Given the description of an element on the screen output the (x, y) to click on. 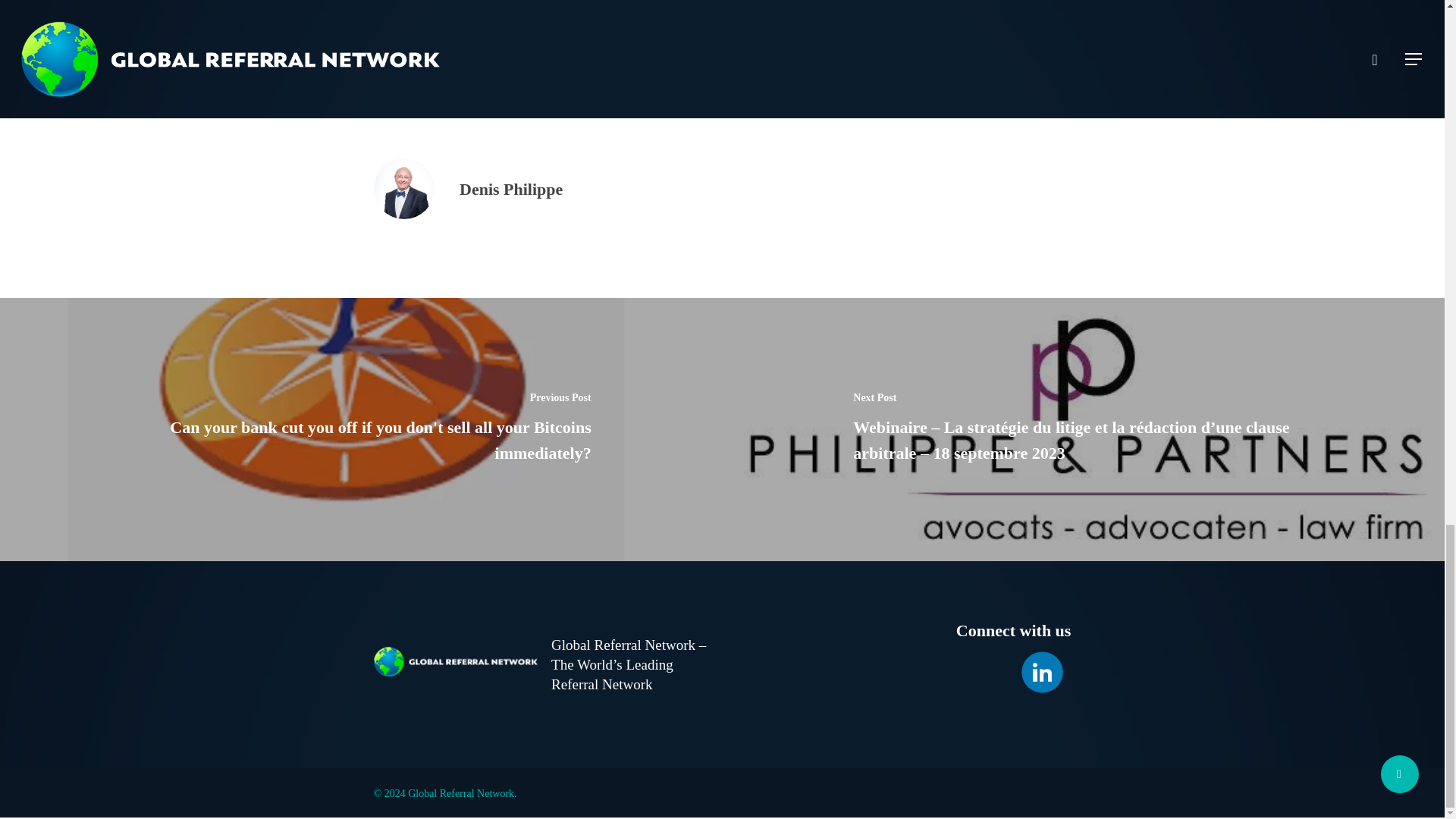
Denis Philippe (511, 189)
